Given the description of an element on the screen output the (x, y) to click on. 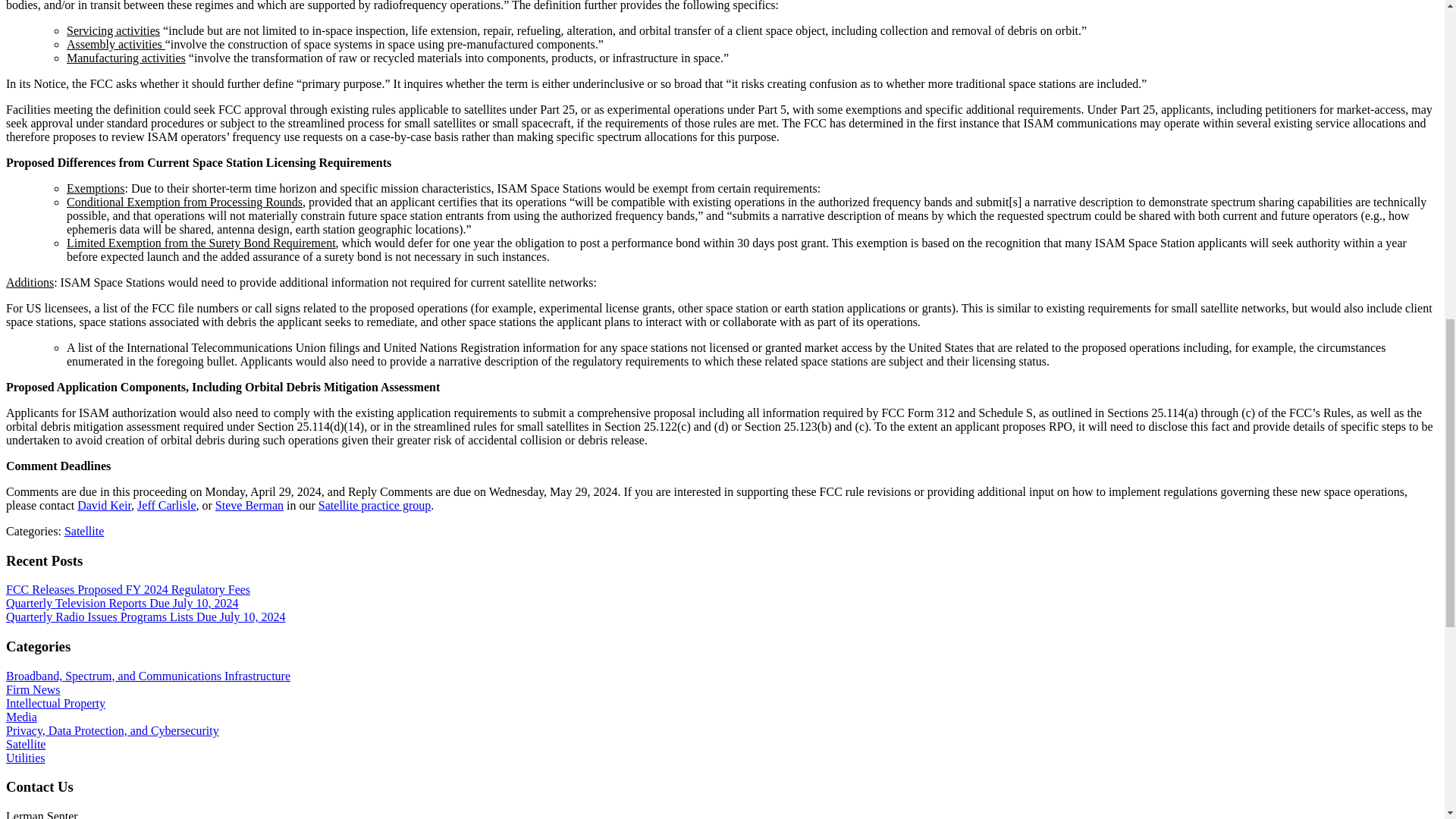
Click for more Satellite information (83, 530)
Steve Berman (249, 504)
Jeff Carlisle (165, 504)
David Keir (104, 504)
